Given the description of an element on the screen output the (x, y) to click on. 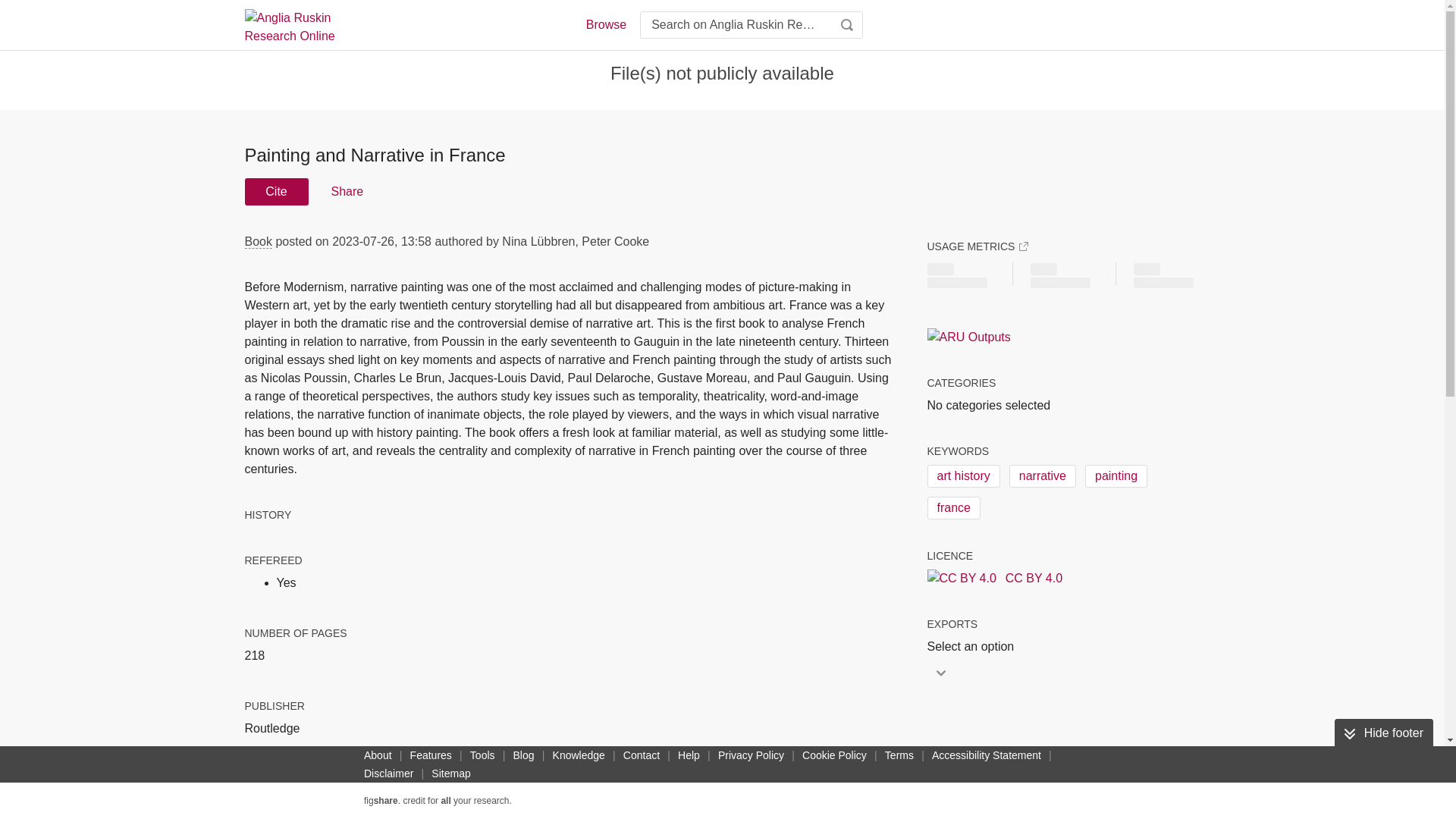
Tools (482, 755)
Help (688, 755)
Accessibility Statement (986, 755)
Sitemap (450, 773)
Disclaimer (388, 773)
USAGE METRICS (976, 246)
Browse (605, 24)
narrative (1042, 476)
About (377, 755)
Share (346, 191)
